Given the description of an element on the screen output the (x, y) to click on. 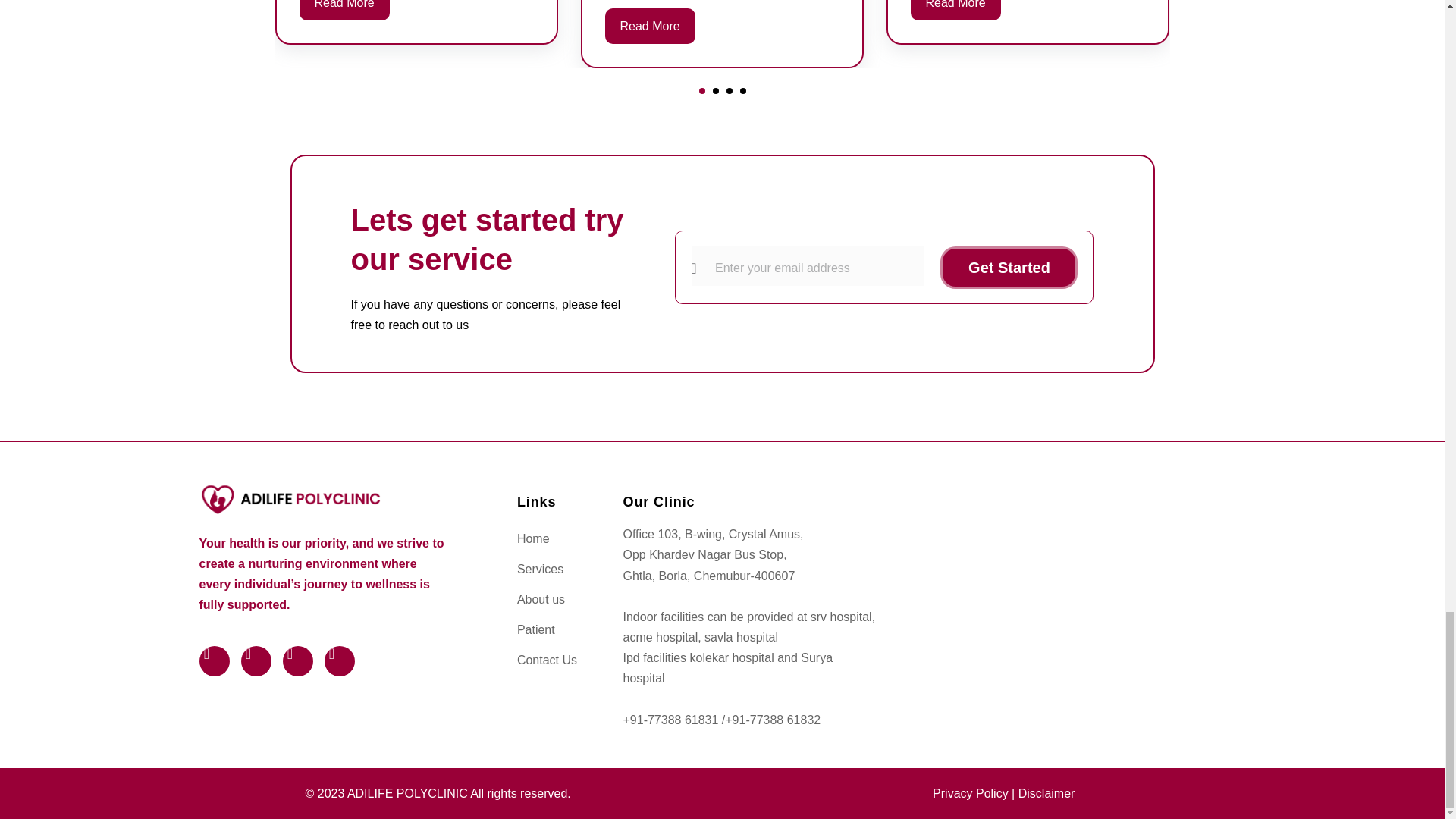
Read More (955, 10)
Get Started (1008, 267)
Read More (650, 26)
Enter your email address (808, 265)
logo (289, 498)
Read More (343, 10)
